Given the description of an element on the screen output the (x, y) to click on. 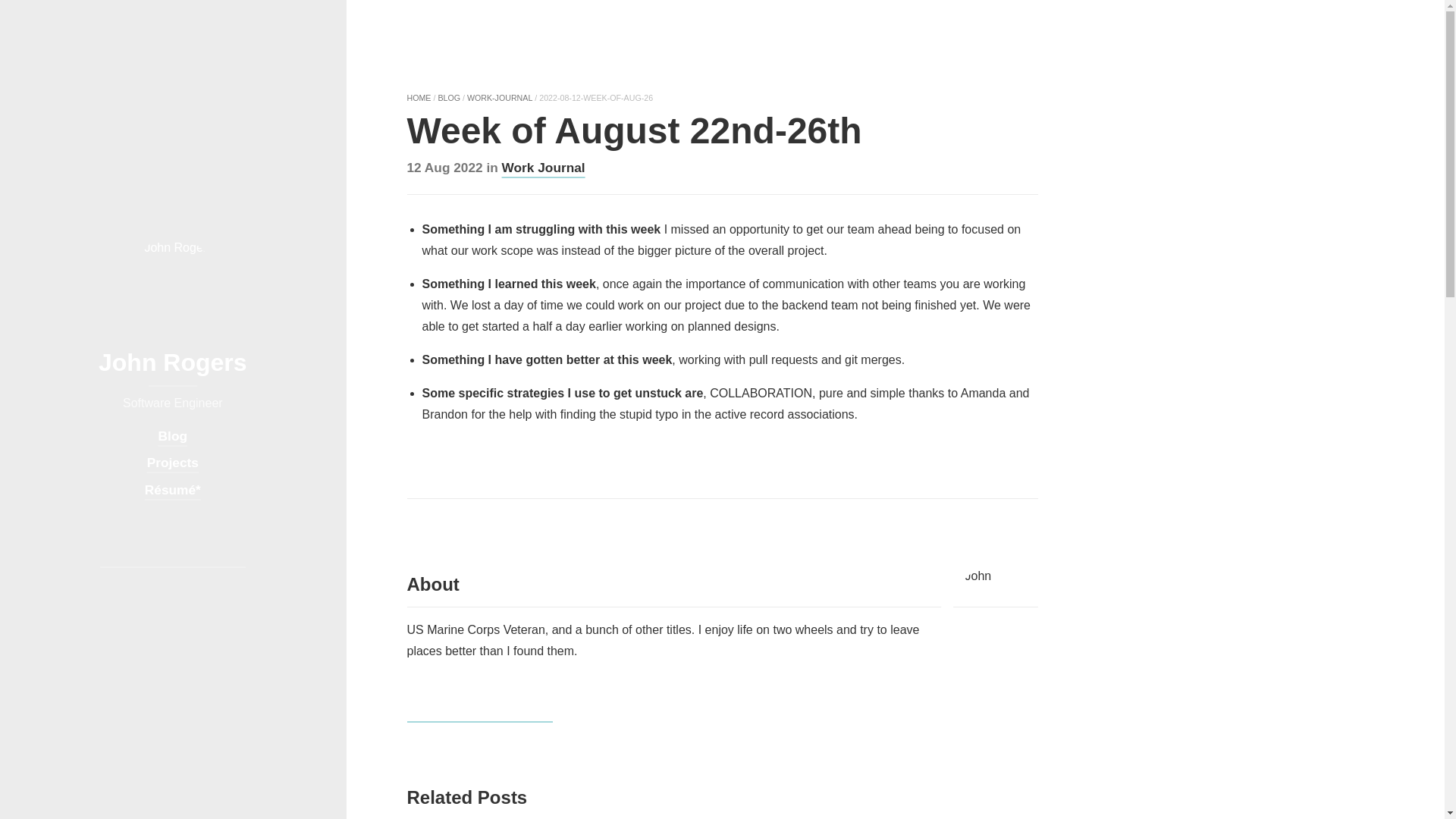
John Rogers (173, 375)
Blog (172, 436)
HOME (418, 97)
WORK-JOURNAL (499, 97)
Projects (172, 463)
BLOG (449, 97)
Work Journal (543, 167)
